Given the description of an element on the screen output the (x, y) to click on. 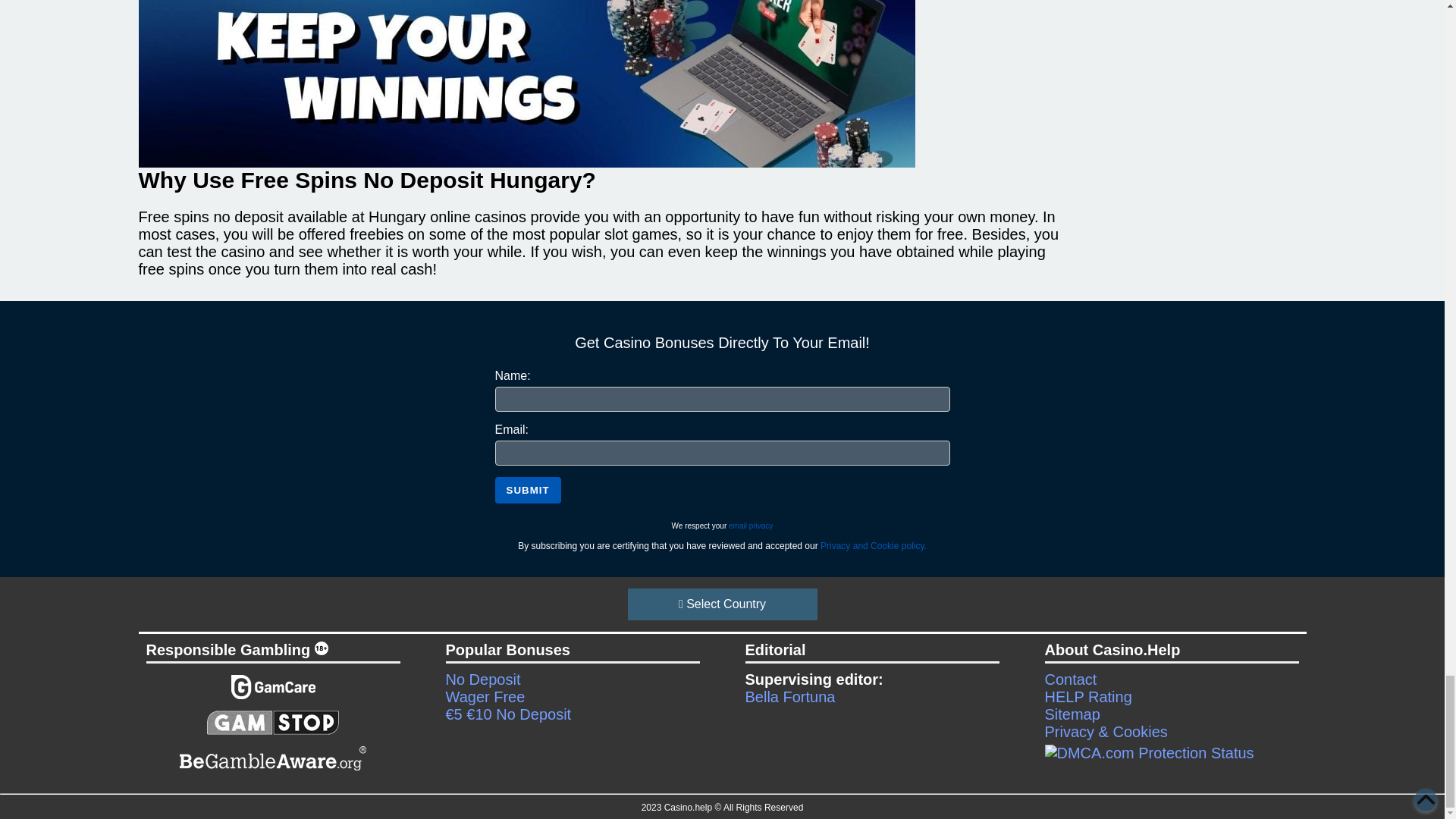
Privacy Policy (751, 525)
DMCA.com Protection Status (1171, 751)
Submit (527, 489)
